Given the description of an element on the screen output the (x, y) to click on. 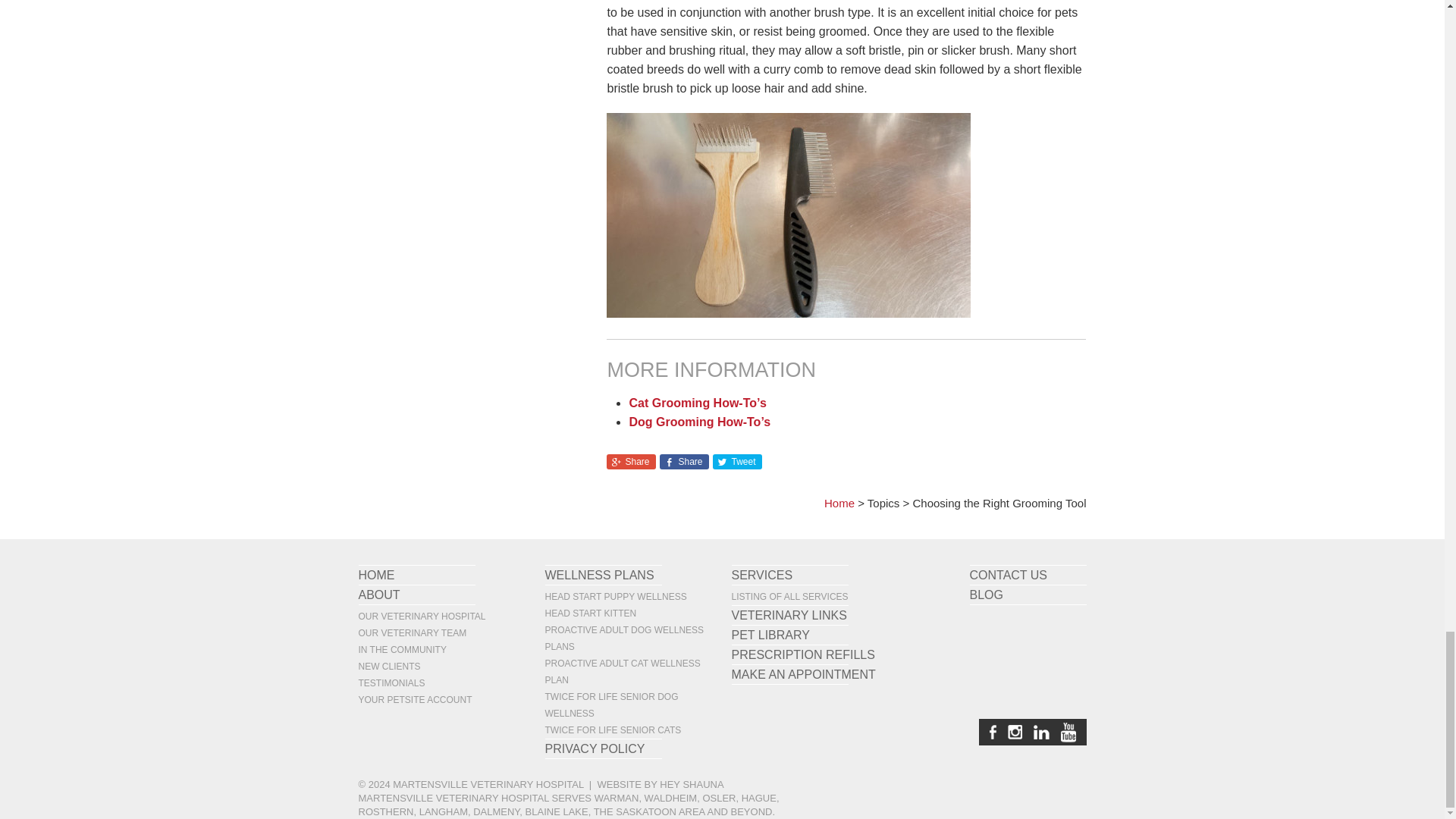
Home (839, 502)
Tweet (737, 461)
Share (684, 461)
Share (631, 461)
